Given the description of an element on the screen output the (x, y) to click on. 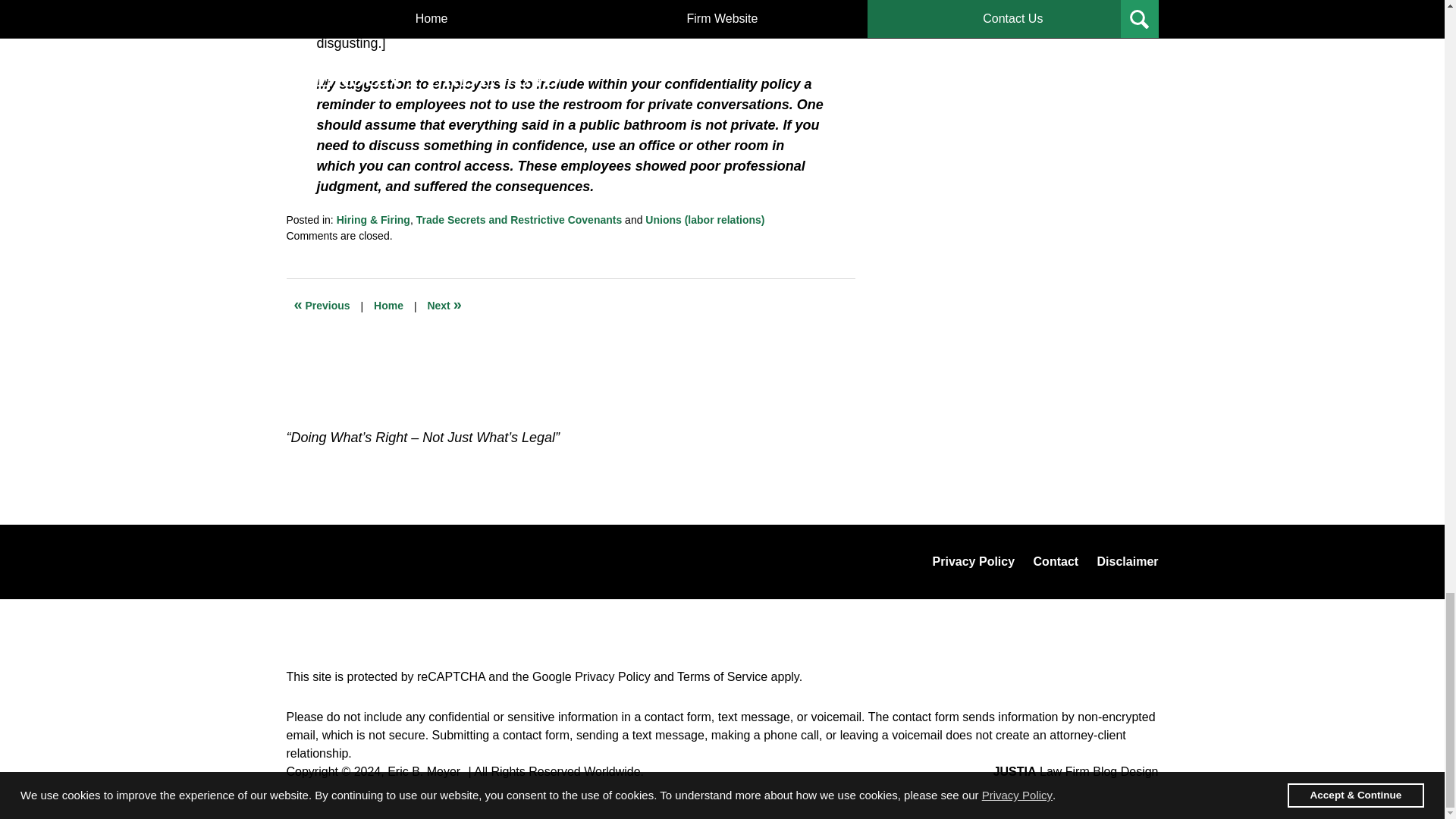
Privacy Policy (612, 676)
Disclaimer (1127, 561)
Trade Secrets and Restrictive Covenants (519, 219)
View all posts in Trade Secrets and Restrictive Covenants (519, 219)
Contact (1056, 561)
Terms of Service (722, 676)
Privacy Policy (973, 561)
Home (388, 306)
